Given the description of an element on the screen output the (x, y) to click on. 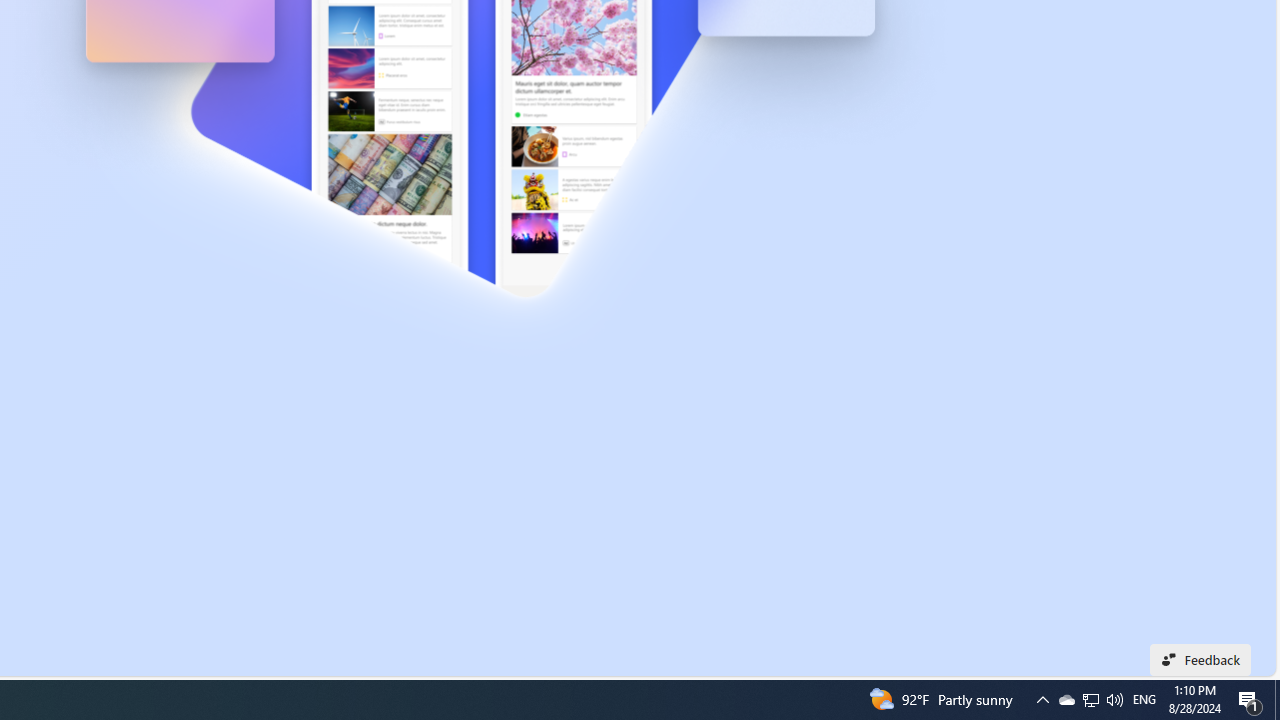
Feedback (1199, 659)
